Given the description of an element on the screen output the (x, y) to click on. 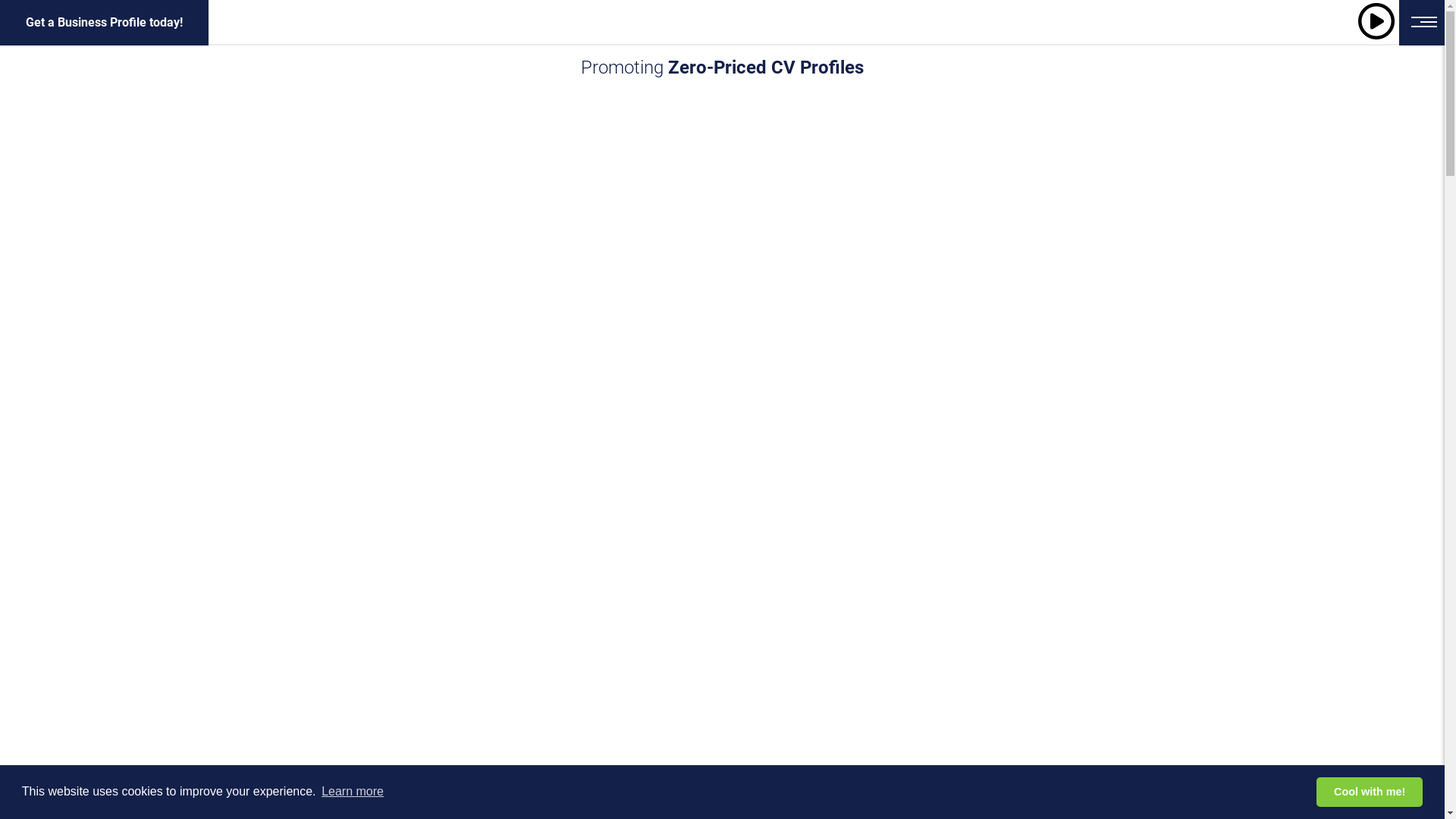
Cool with me! Element type: text (1369, 791)
Get a Business Profile today! Element type: text (104, 22)
Learn more Element type: text (352, 791)
